Given the description of an element on the screen output the (x, y) to click on. 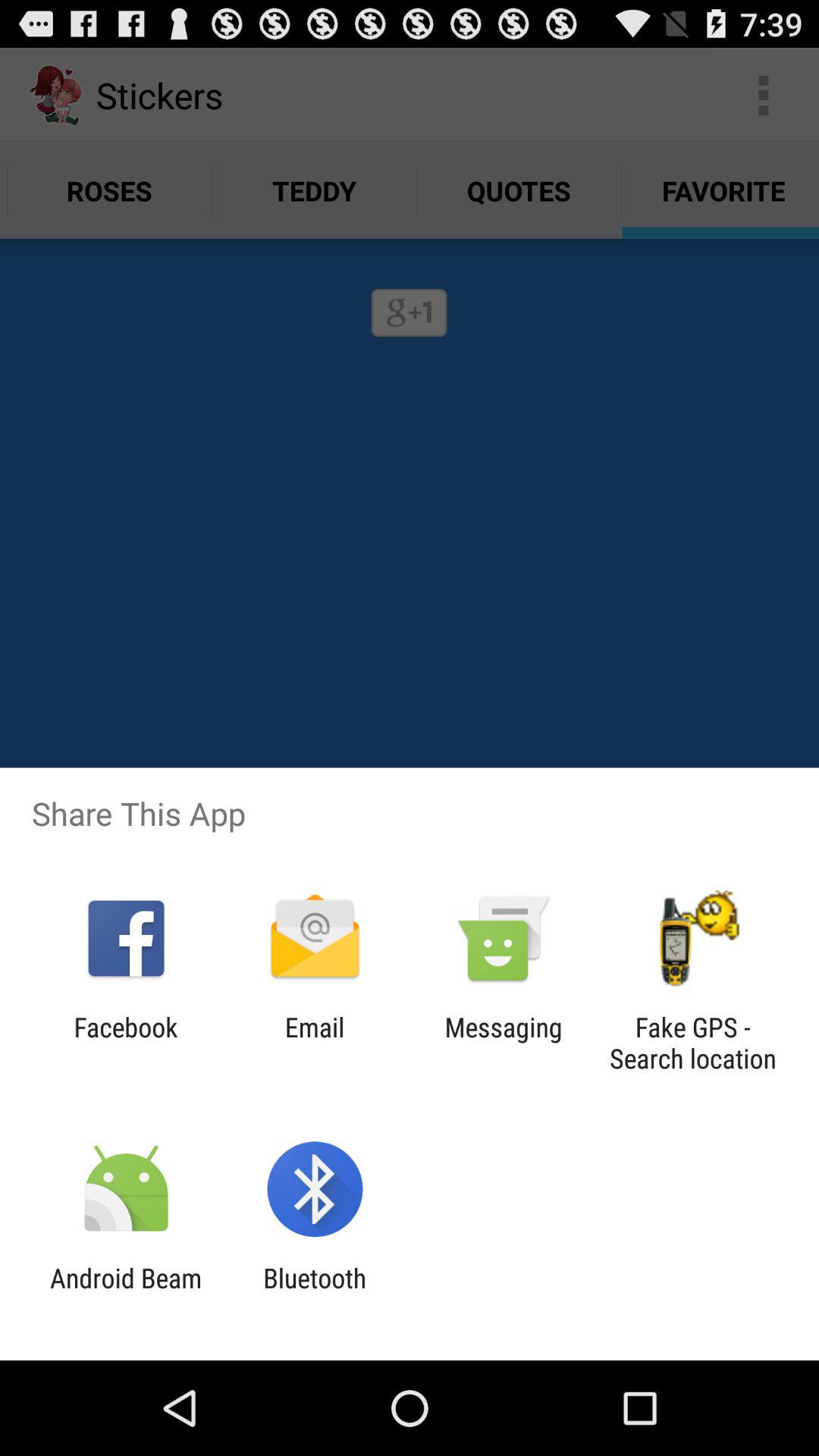
turn off the icon next to email icon (503, 1042)
